Given the description of an element on the screen output the (x, y) to click on. 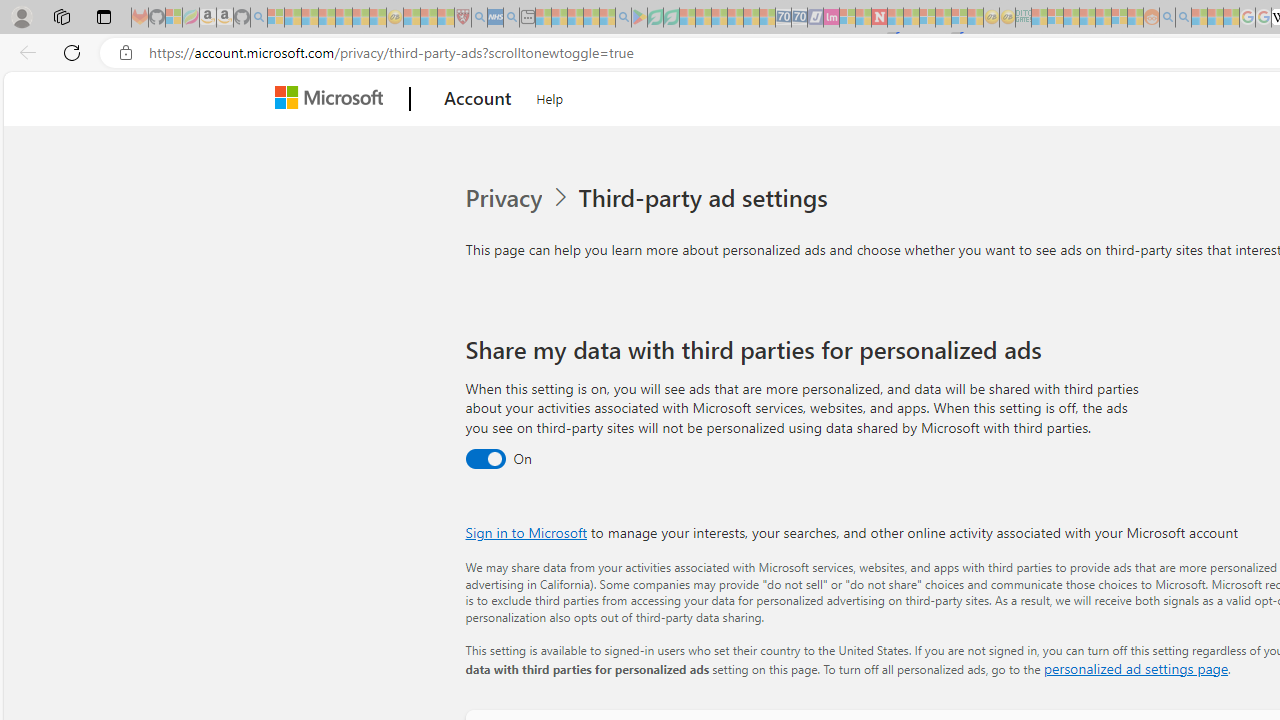
Third-party ad settings (706, 197)
Account (477, 99)
